Given the description of an element on the screen output the (x, y) to click on. 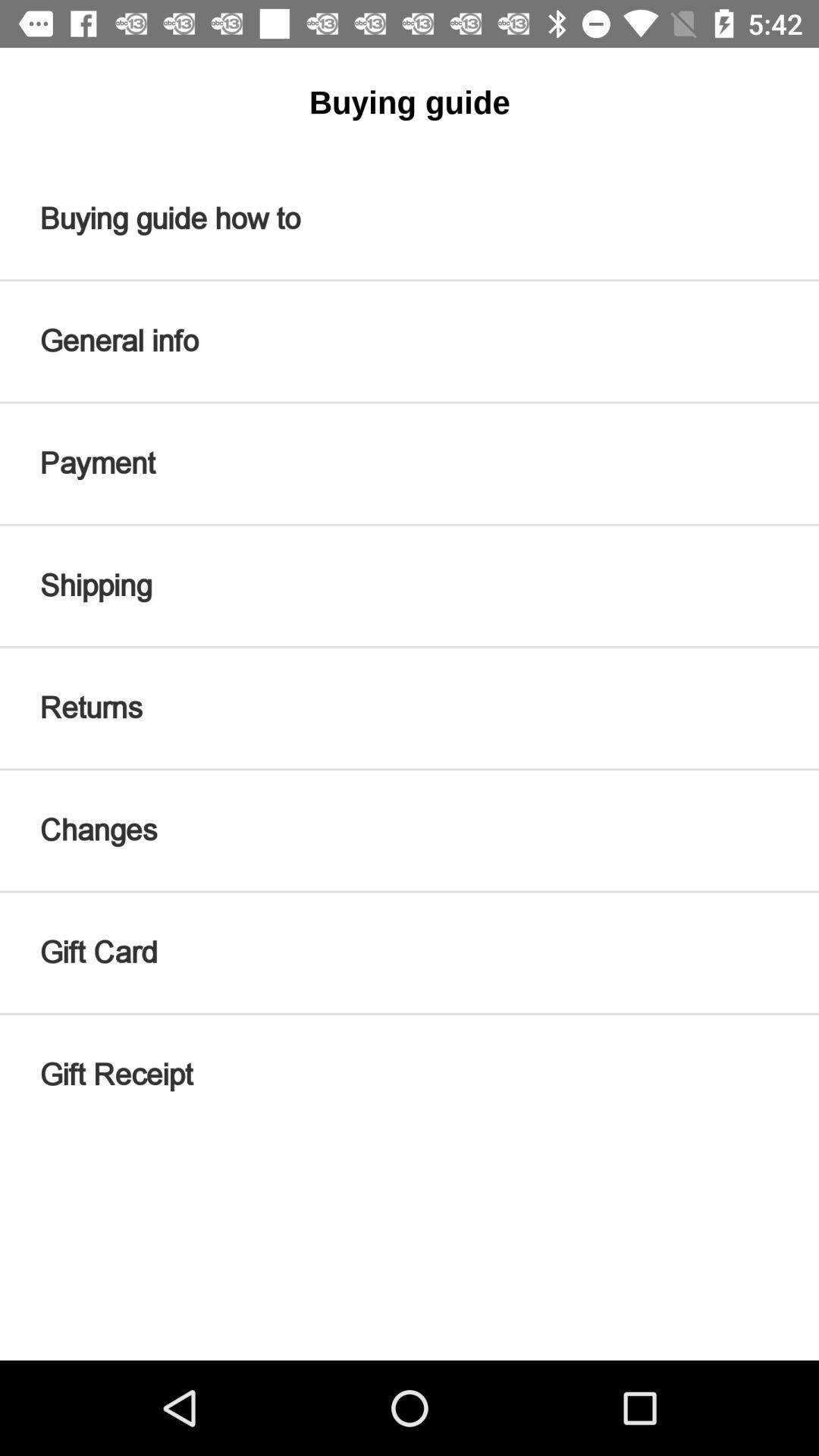
swipe until the gift card (409, 952)
